Given the description of an element on the screen output the (x, y) to click on. 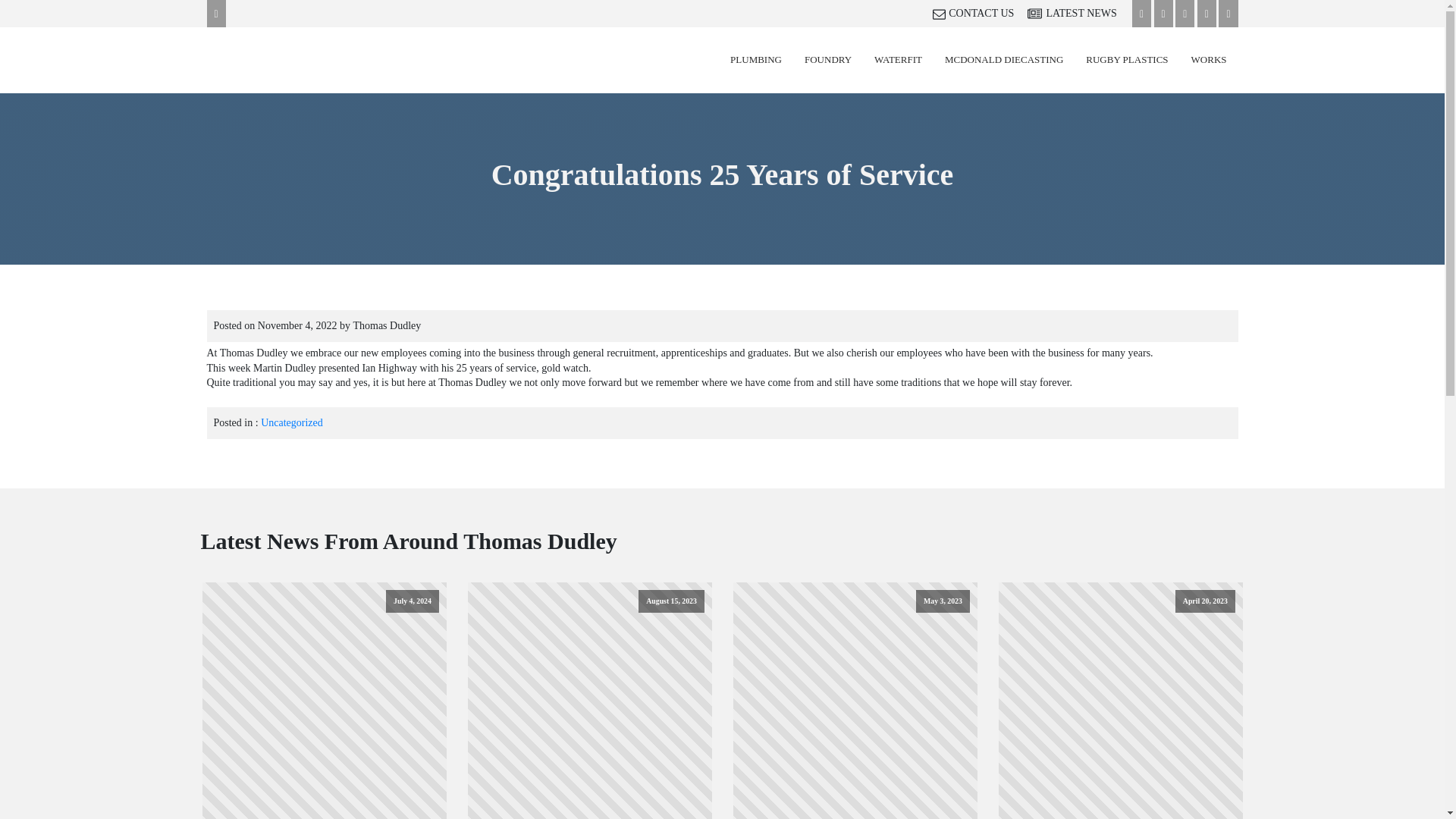
FOUNDRY (828, 60)
CONTACT US (980, 13)
PLUMBING (756, 60)
LATEST NEWS (1078, 13)
